Given the description of an element on the screen output the (x, y) to click on. 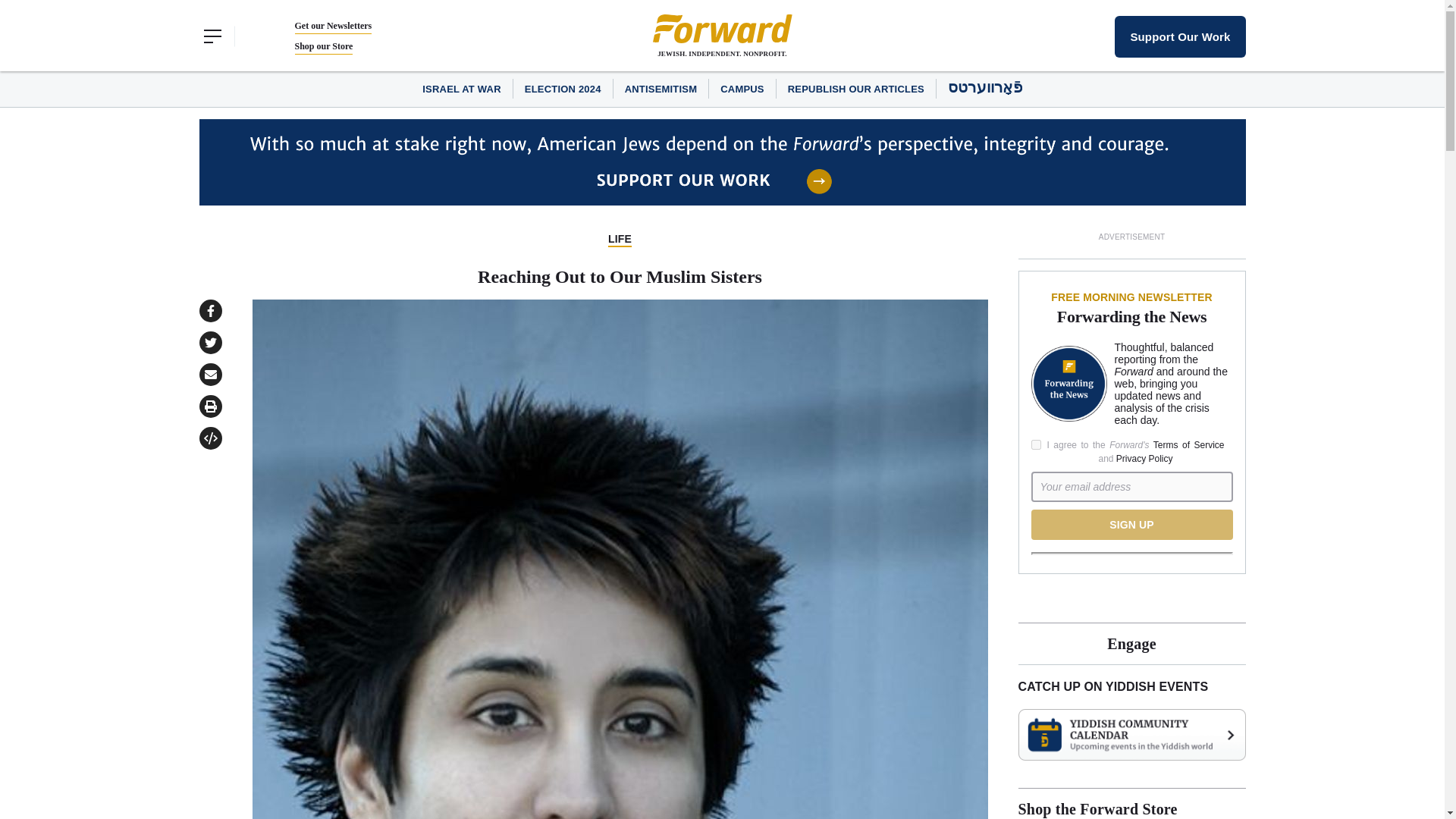
ANTISEMITISM (660, 89)
Click to open publish popup (209, 437)
Sign Up (1131, 524)
Get our Newsletters (332, 26)
Shop our Store (323, 46)
Support Our Work (1179, 35)
ISRAEL AT WAR (461, 89)
Yes (1035, 444)
ELECTION 2024 (562, 89)
